Given the description of an element on the screen output the (x, y) to click on. 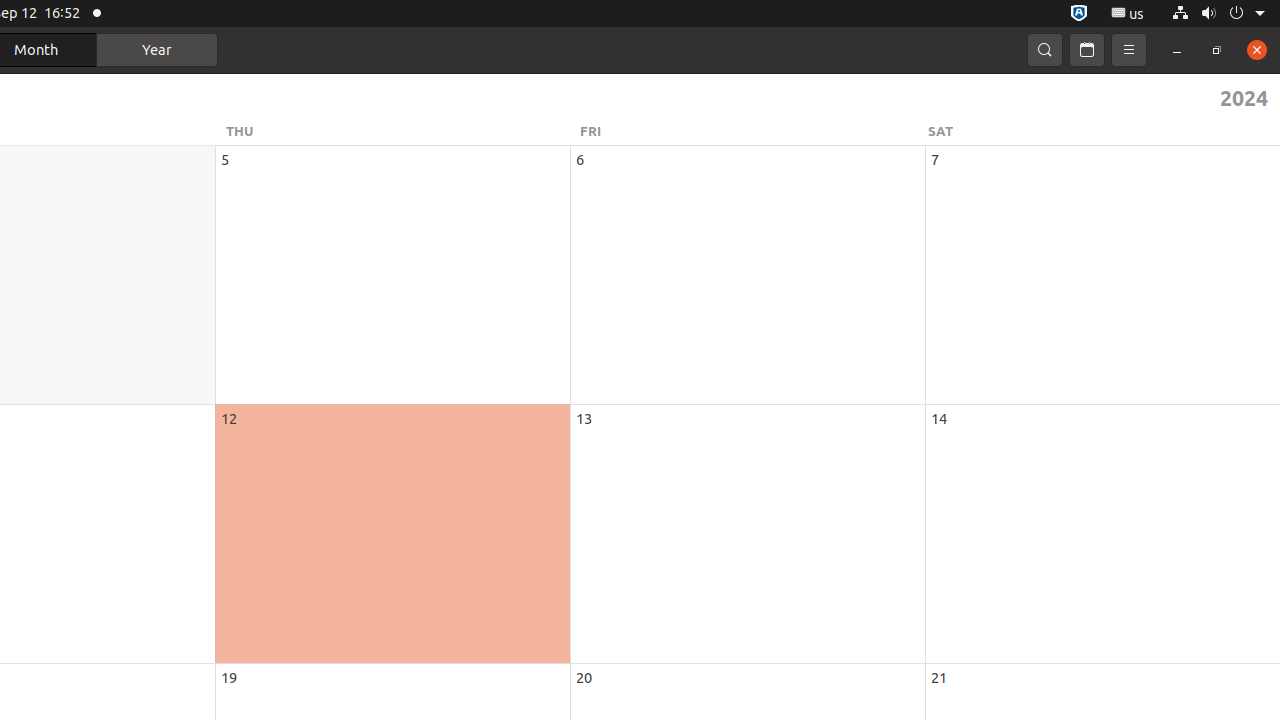
Close Element type: push-button (1257, 50)
12 Element type: label (229, 418)
THU Element type: label (400, 131)
SAT Element type: label (1101, 131)
